Given the description of an element on the screen output the (x, y) to click on. 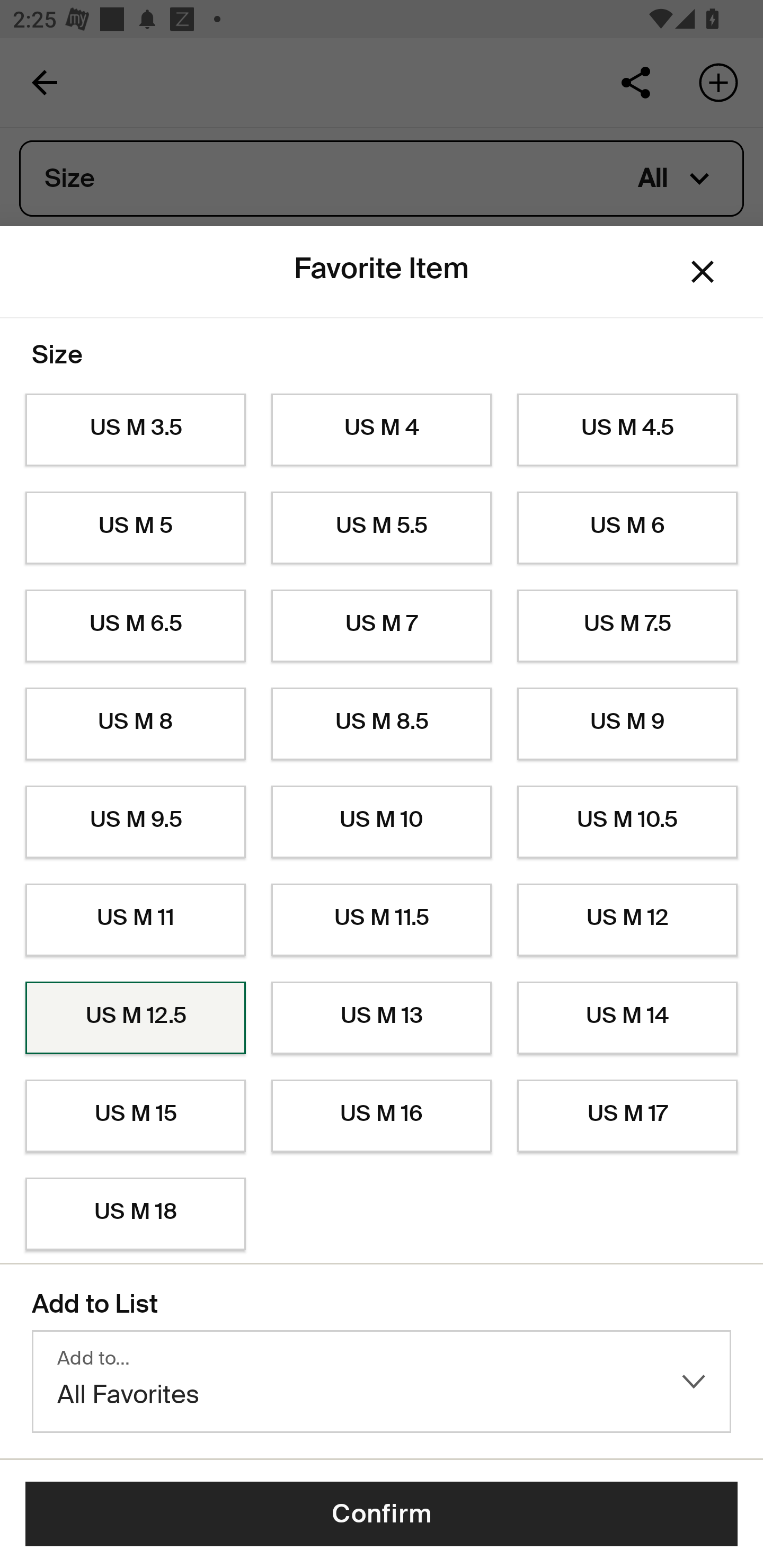
Dismiss (702, 271)
US M 3.5 (135, 430)
US M 4 (381, 430)
US M 4.5 (627, 430)
US M 5 (135, 527)
US M 5.5 (381, 527)
US M 6 (627, 527)
US M 6.5 (135, 626)
US M 7 (381, 626)
US M 7.5 (627, 626)
US M 8 (135, 724)
US M 8.5 (381, 724)
US M 9 (627, 724)
US M 9.5 (135, 822)
US M 10 (381, 822)
US M 10.5 (627, 822)
US M 11 (135, 919)
US M 11.5 (381, 919)
US M 12 (627, 919)
US M 12.5 (135, 1018)
US M 13 (381, 1018)
US M 14 (627, 1018)
US M 15 (135, 1116)
US M 16 (381, 1116)
US M 17 (627, 1116)
US M 18 (135, 1214)
Add to… All Favorites (381, 1381)
Confirm (381, 1513)
